Given the description of an element on the screen output the (x, y) to click on. 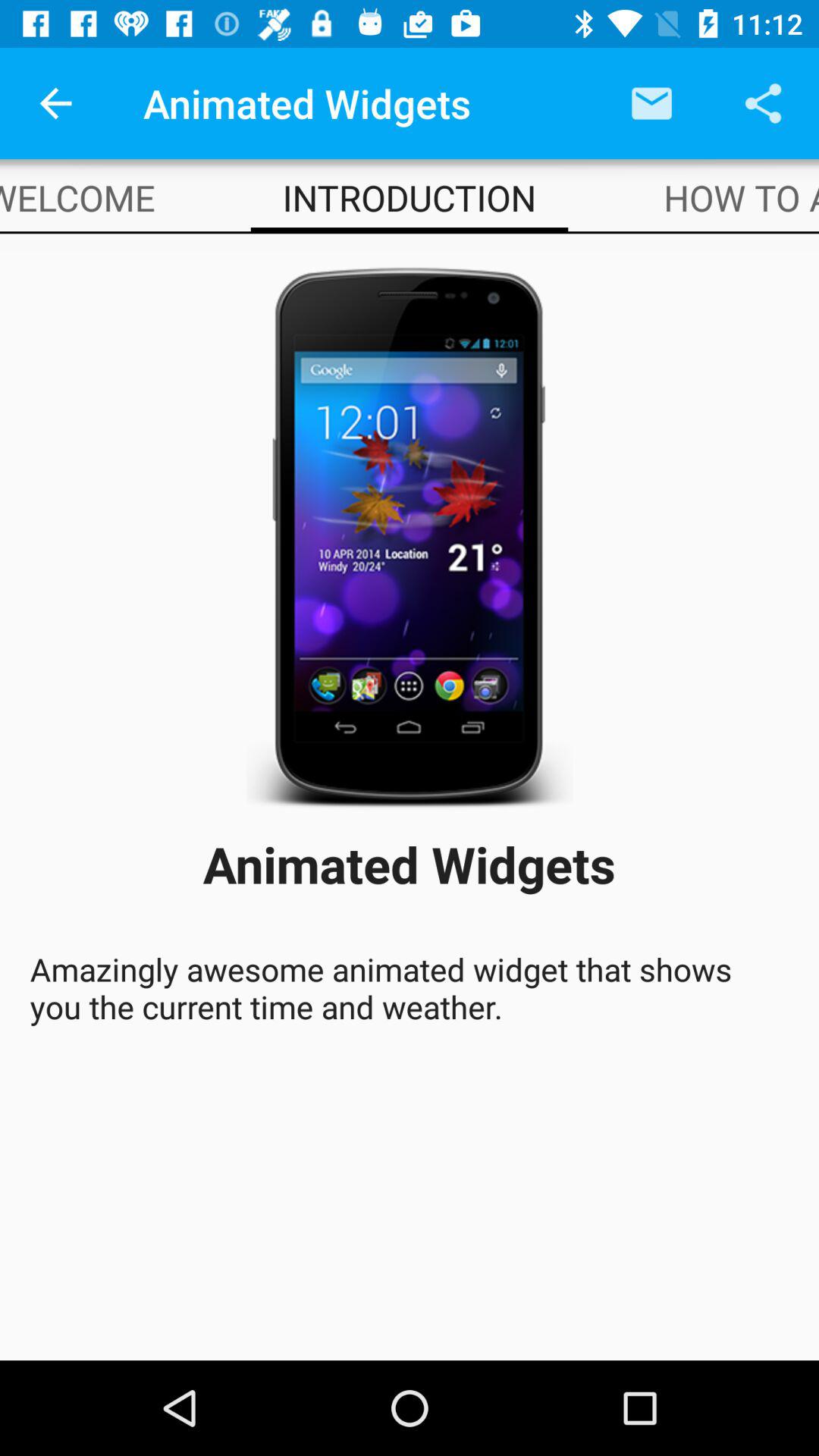
turn on app to the left of the introduction app (77, 197)
